Given the description of an element on the screen output the (x, y) to click on. 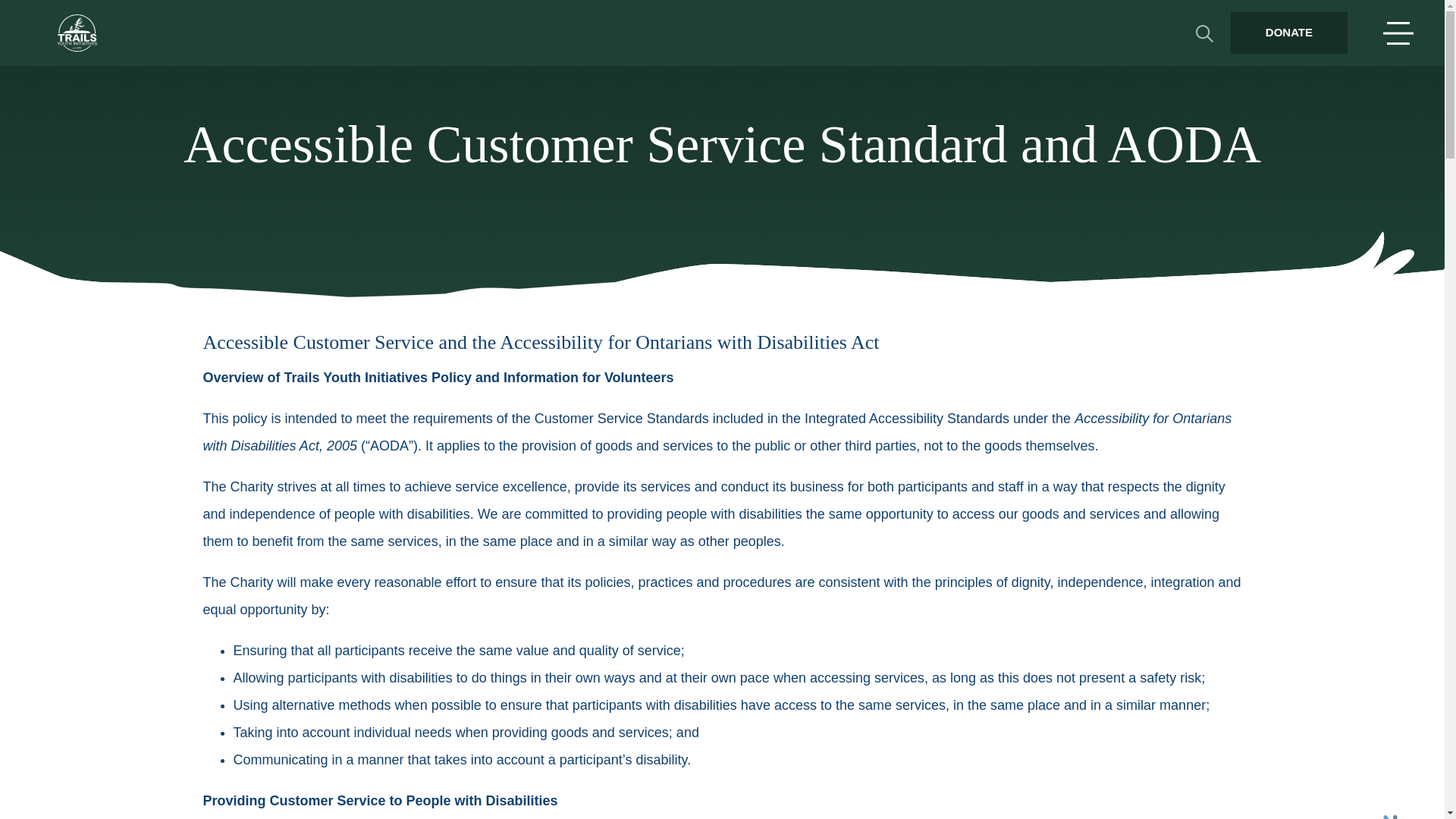
DONATE (1289, 33)
Primary Menu (1397, 33)
